Given the description of an element on the screen output the (x, y) to click on. 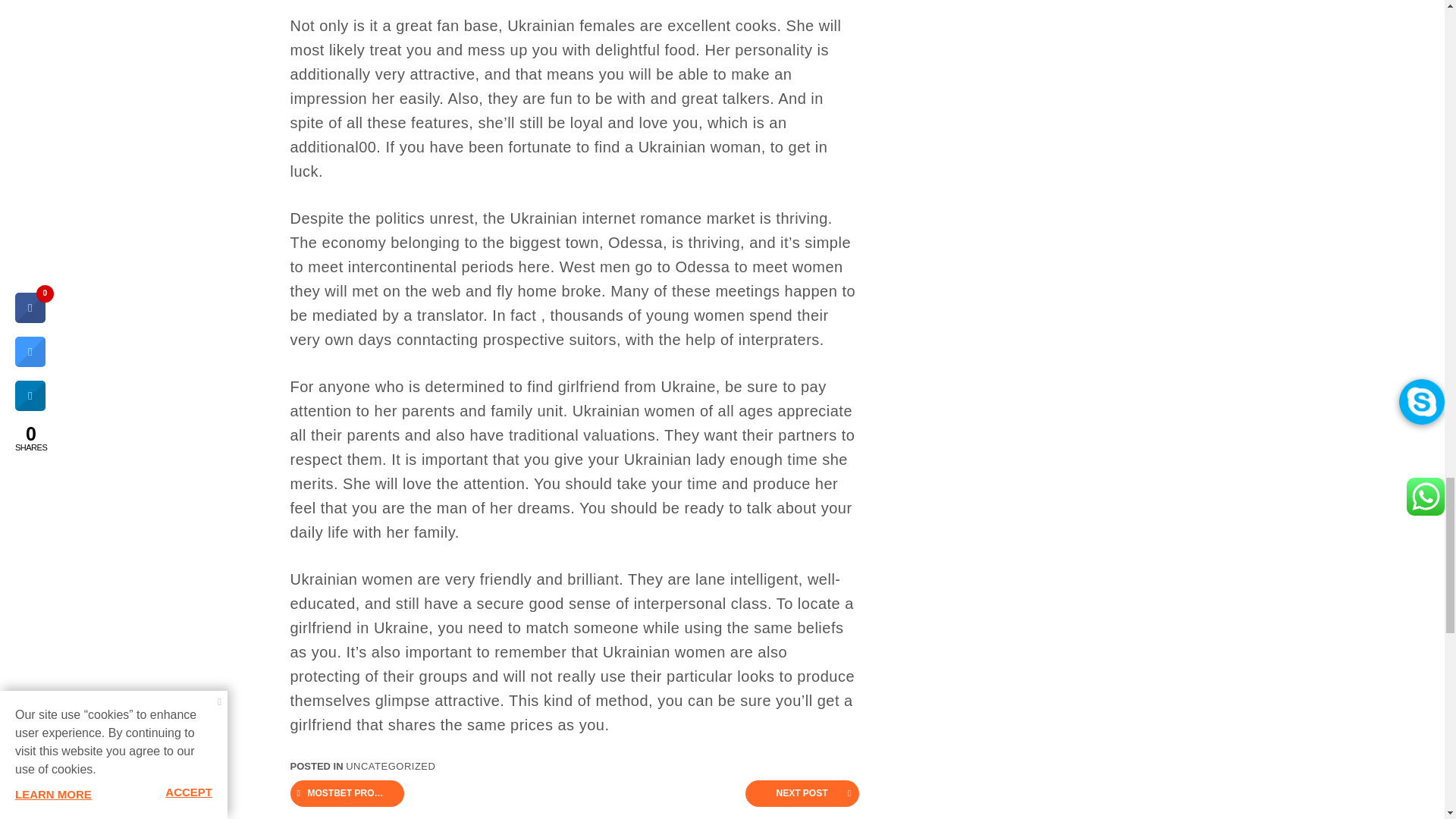
UNCATEGORIZED (390, 766)
